Given the description of an element on the screen output the (x, y) to click on. 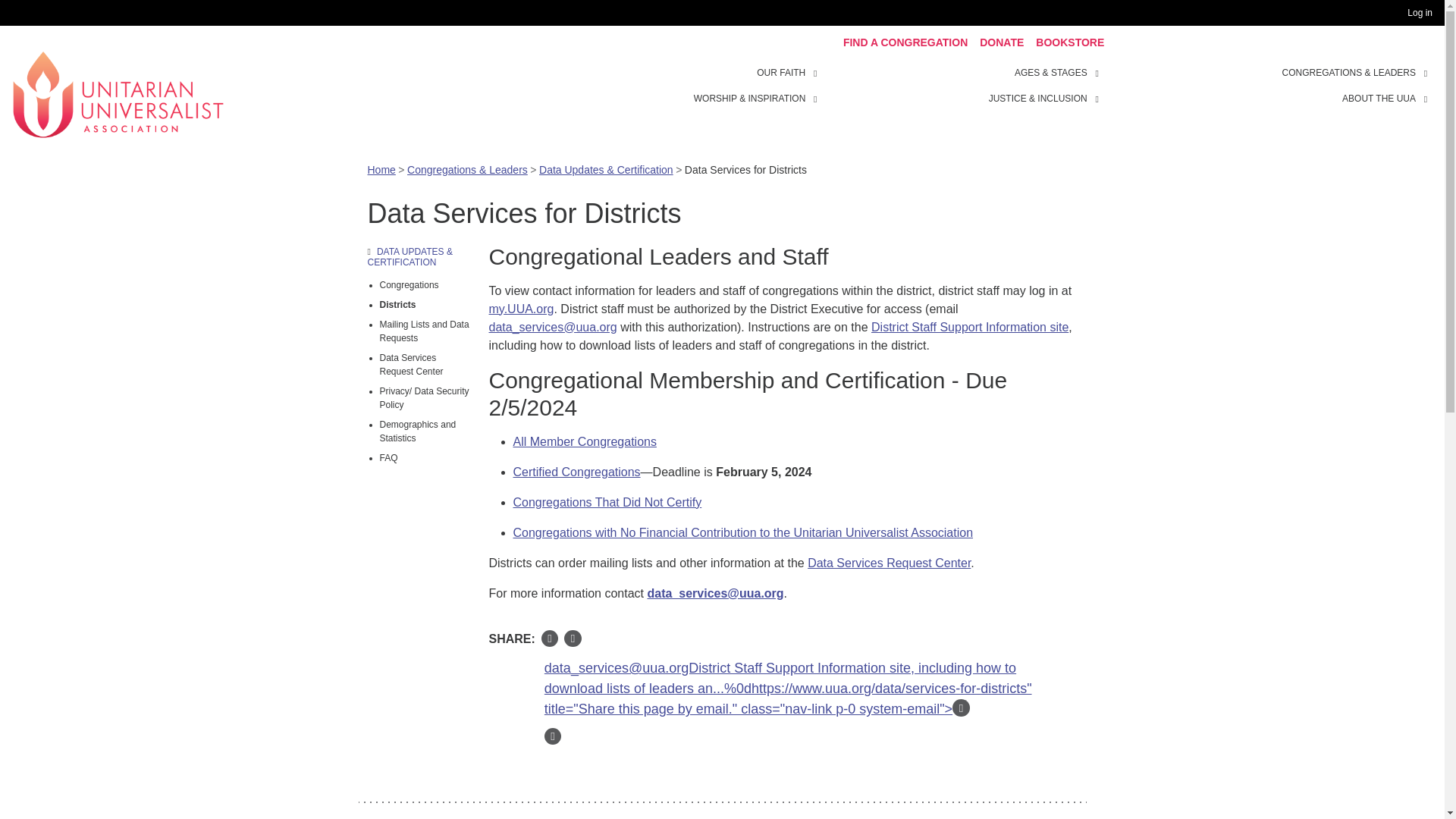
Share on Twitter (572, 638)
Share on Facebook (550, 638)
Print this page (553, 736)
DONATE (1001, 42)
Site Menu (962, 85)
OUR FAITH (817, 71)
OUR FAITH (781, 72)
BOOKSTORE (1069, 42)
Home (117, 92)
Share by email (960, 707)
FIND A CONGREGATION (905, 42)
Log in (1423, 12)
Go up this menu (418, 257)
